Given the description of an element on the screen output the (x, y) to click on. 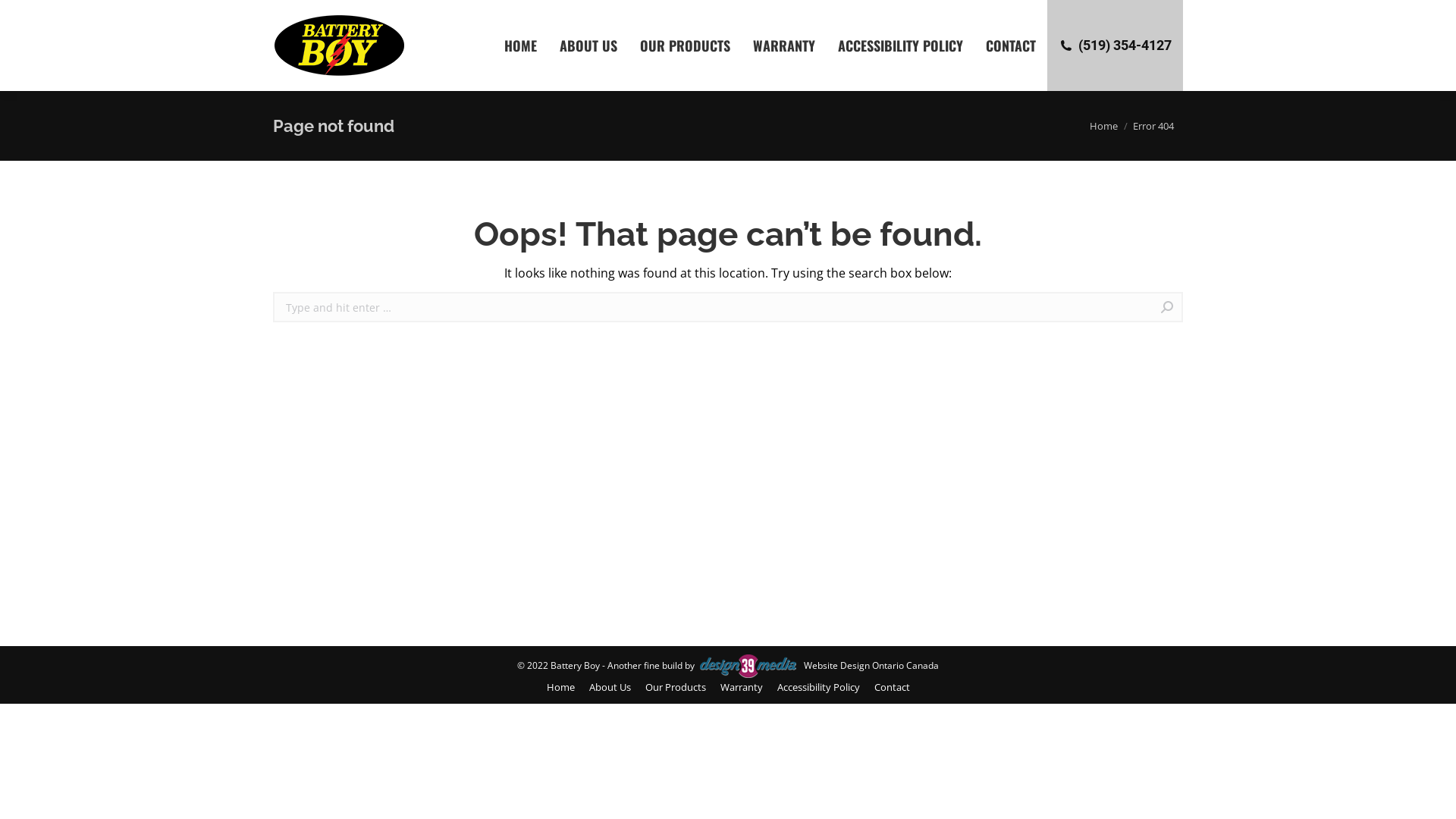
Our Products Element type: text (674, 687)
(519) 354-4127 Element type: text (1114, 45)
WARRANTY Element type: text (783, 45)
OUR PRODUCTS Element type: text (684, 45)
Contact Element type: text (891, 687)
HOME Element type: text (520, 45)
Warranty Element type: text (741, 687)
Home Element type: text (1103, 125)
About Us Element type: text (609, 687)
CONTACT Element type: text (1010, 45)
ABOUT US Element type: text (588, 45)
Accessibility Policy Element type: text (817, 687)
ACCESSIBILITY POLICY Element type: text (900, 45)
Home Element type: text (560, 687)
Go! Element type: text (1206, 308)
